Given the description of an element on the screen output the (x, y) to click on. 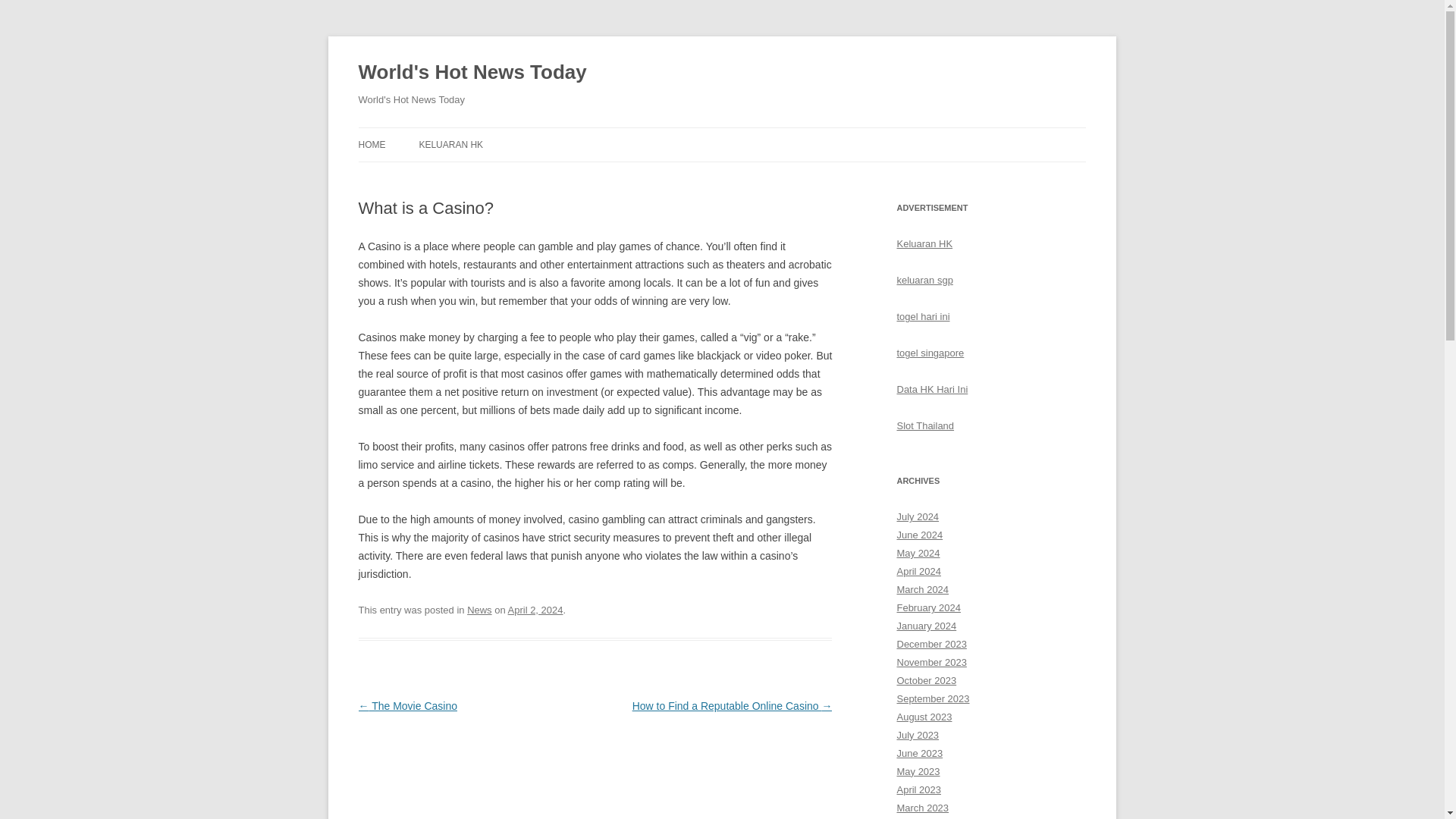
February 2024 (927, 607)
Data HK Hari Ini (932, 389)
Keluaran HK (924, 243)
March 2024 (922, 589)
September 2023 (932, 698)
4:54 pm (535, 609)
April 2, 2024 (535, 609)
May 2023 (917, 771)
World's Hot News Today (472, 72)
June 2023 (919, 753)
December 2023 (931, 644)
Slot Thailand (924, 425)
World's Hot News Today (472, 72)
